Given the description of an element on the screen output the (x, y) to click on. 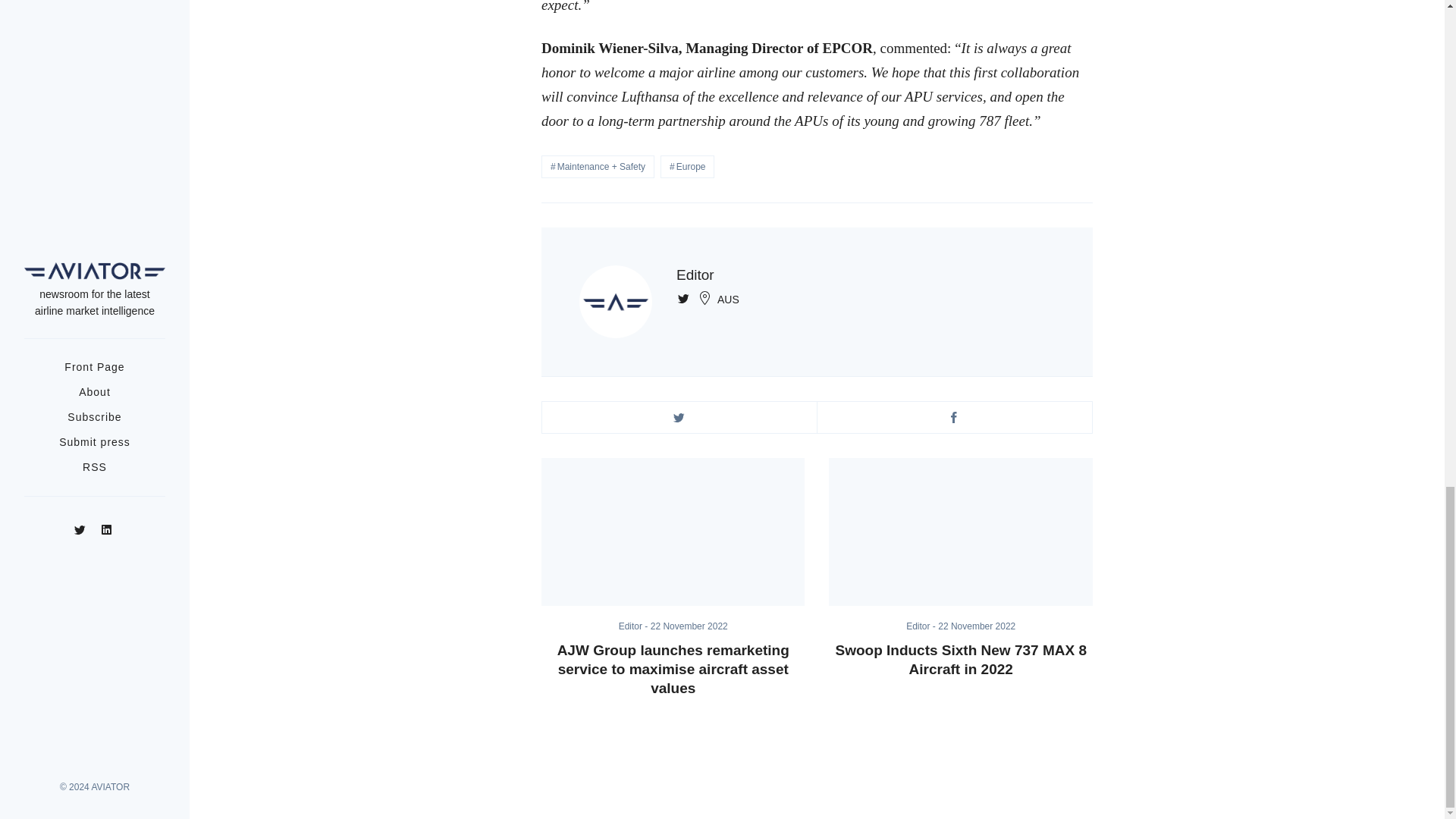
Share on Facebook (954, 417)
Editor (921, 625)
Editor - (921, 625)
Swoop Inducts Sixth New 737 MAX 8 Aircraft in 2022 (960, 531)
Swoop Inducts Sixth New 737 MAX 8 Aircraft in 2022 (960, 659)
Editor - (634, 625)
Editor (634, 625)
Europe (687, 166)
